Given the description of an element on the screen output the (x, y) to click on. 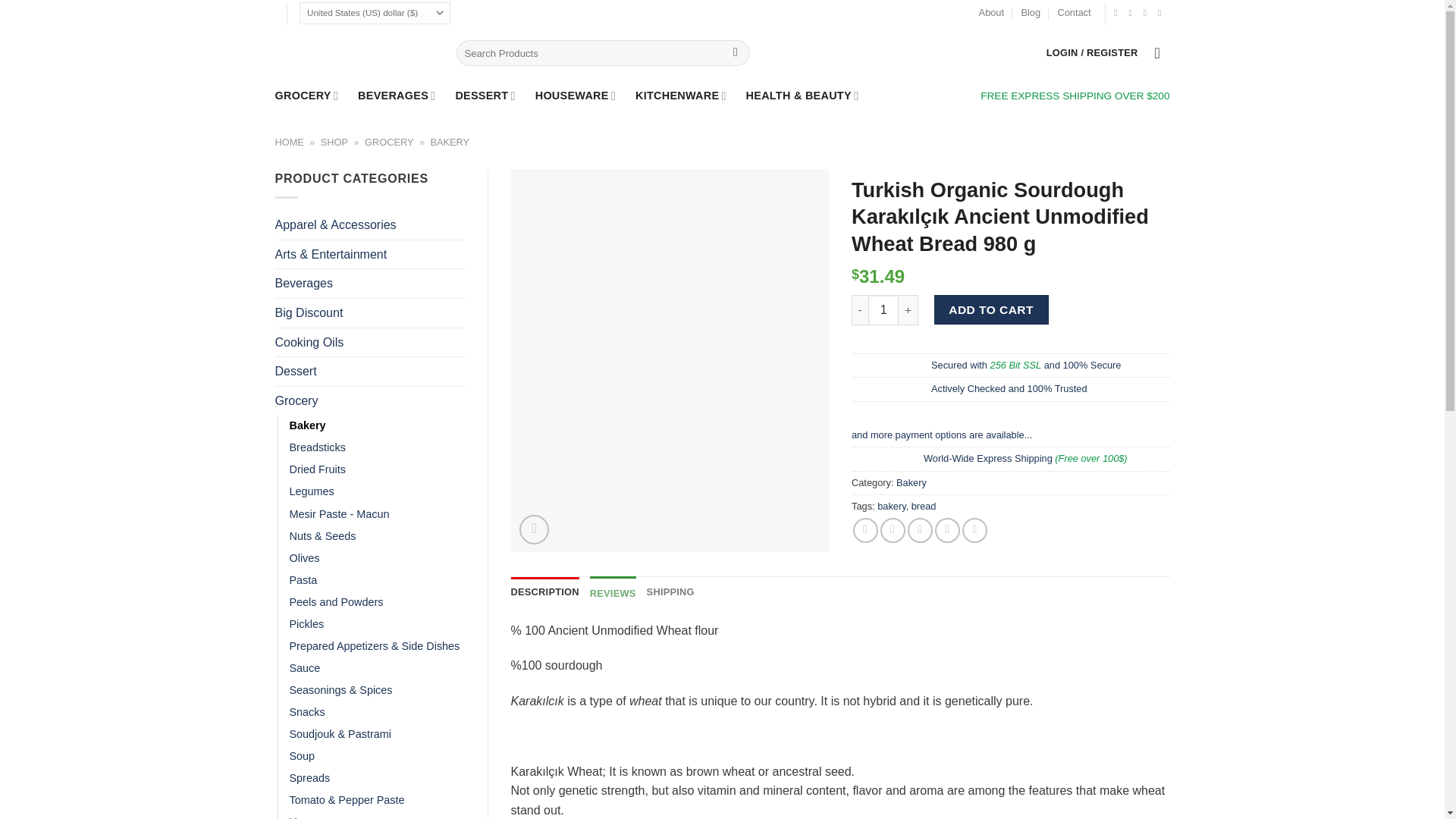
Pin on Pinterest (946, 529)
BEVERAGES (396, 95)
Share on LinkedIn (974, 529)
Share on Facebook (865, 529)
Zoom (533, 529)
About (991, 12)
Search (735, 53)
Qty (882, 309)
Email to a Friend (920, 529)
Contact (1073, 12)
1 (882, 309)
Share on Twitter (892, 529)
GROCERY (306, 95)
